Given the description of an element on the screen output the (x, y) to click on. 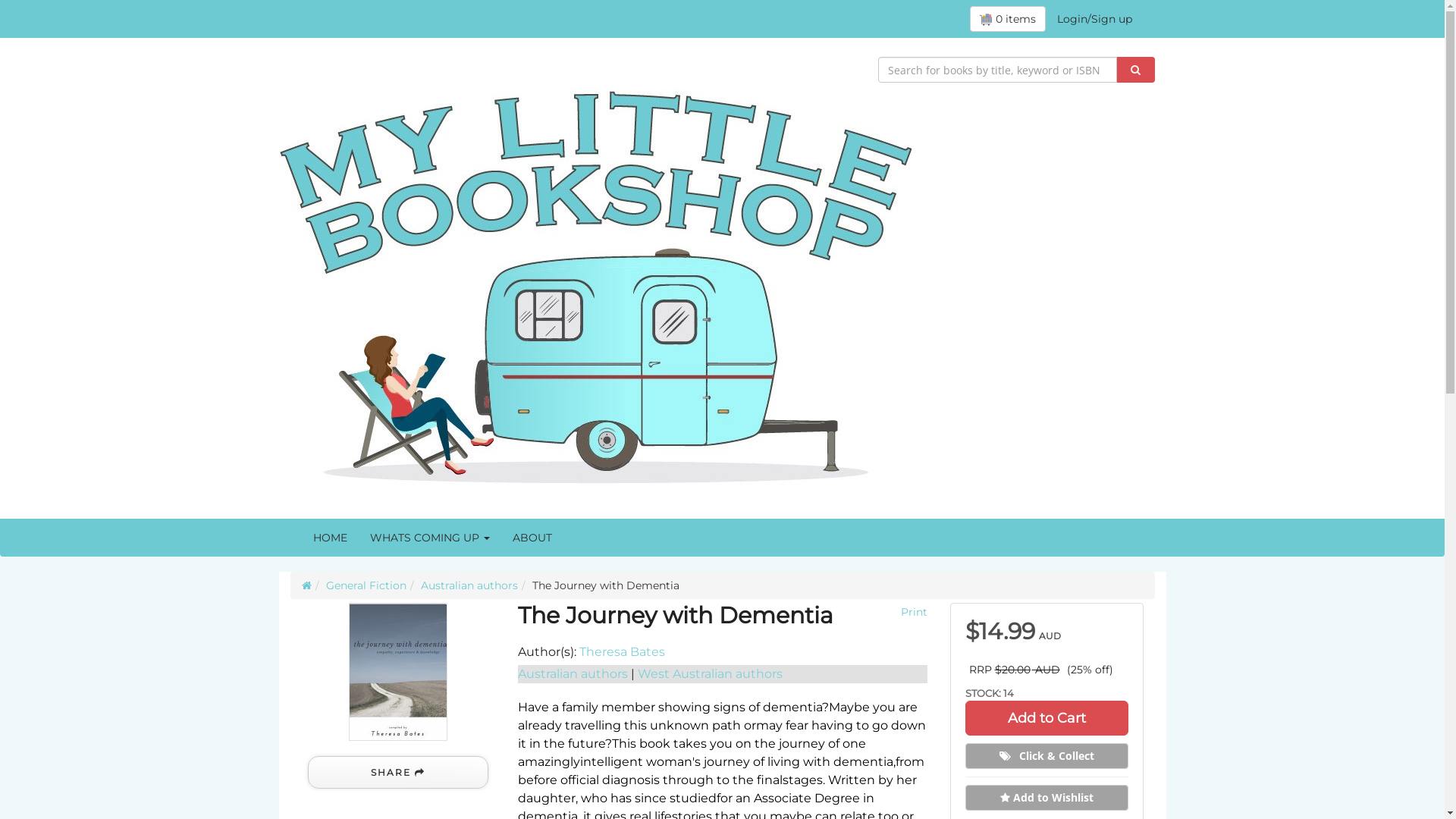
The Journey with Dementia Element type: hover (397, 671)
Add to Cart Element type: text (1045, 717)
General Fiction Element type: text (366, 585)
Login/Sign up Element type: text (1093, 18)
 Print Element type: text (912, 611)
SHARE Element type: text (397, 772)
0 items Element type: text (1006, 18)
Click & Collect Element type: text (1045, 755)
ABOUT Element type: text (531, 537)
Theresa Bates Element type: text (622, 651)
Australian authors Element type: text (468, 585)
Add to Wishlist Element type: text (1045, 797)
Australian authors Element type: text (572, 673)
HOME Element type: text (329, 537)
West Australian authors Element type: text (709, 673)
WHATS COMING UP  Element type: text (428, 537)
0 items Element type: text (1006, 18)
